Given the description of an element on the screen output the (x, y) to click on. 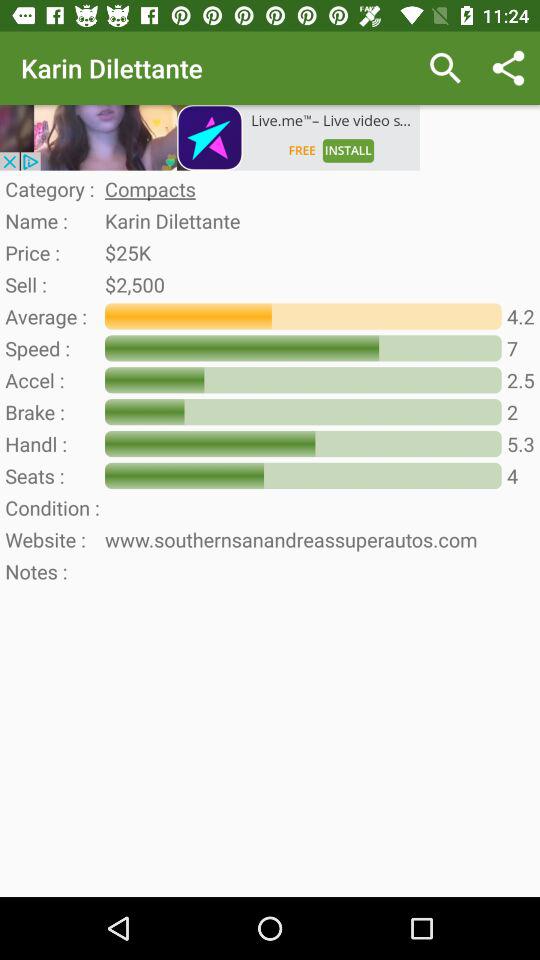
advertesement (210, 137)
